Given the description of an element on the screen output the (x, y) to click on. 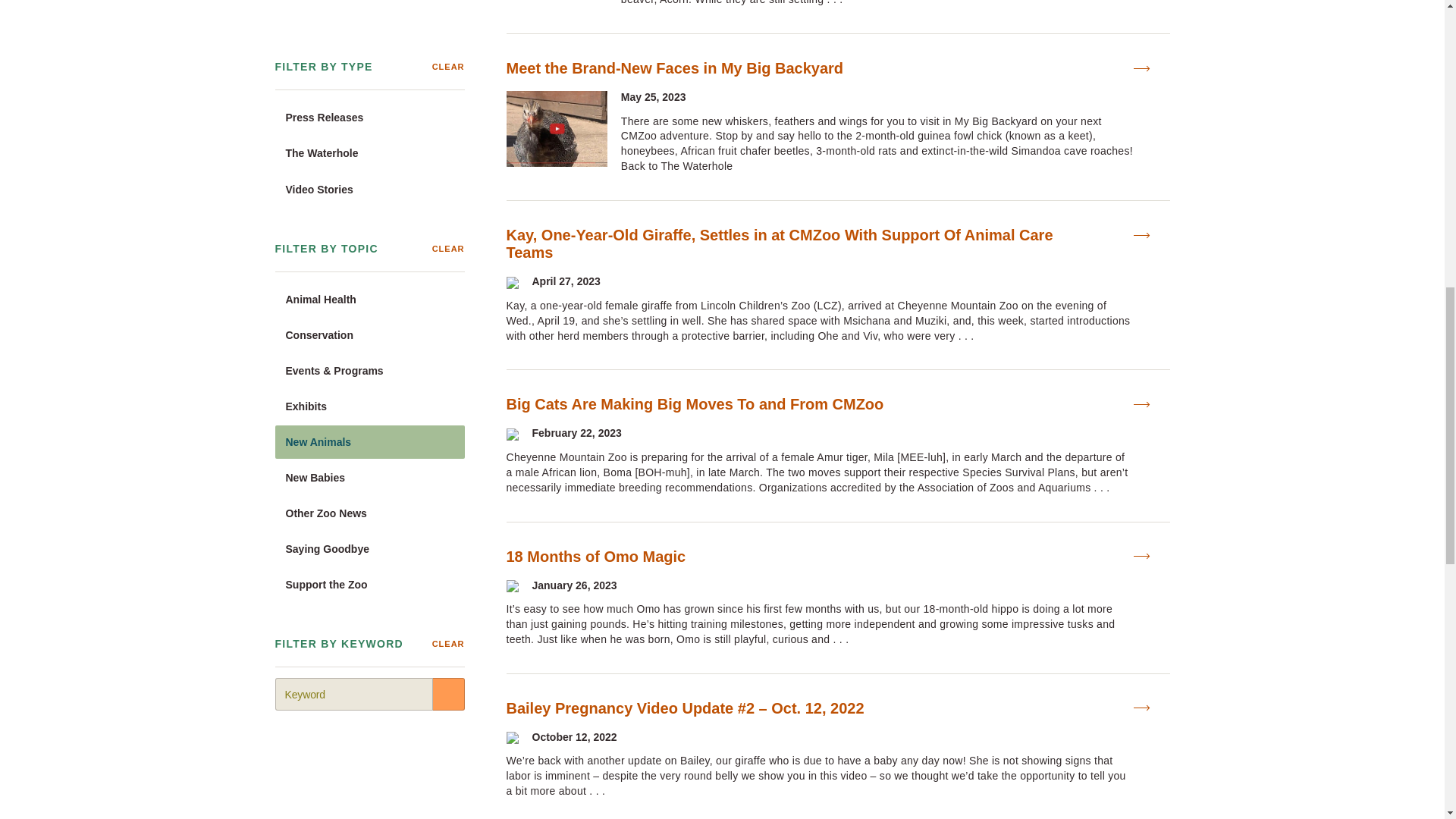
Saying Goodbye (369, 29)
Filter (448, 174)
Filter (448, 174)
CLEAR (448, 125)
Other Zoo News (369, 5)
Support the Zoo (369, 65)
